Given the description of an element on the screen output the (x, y) to click on. 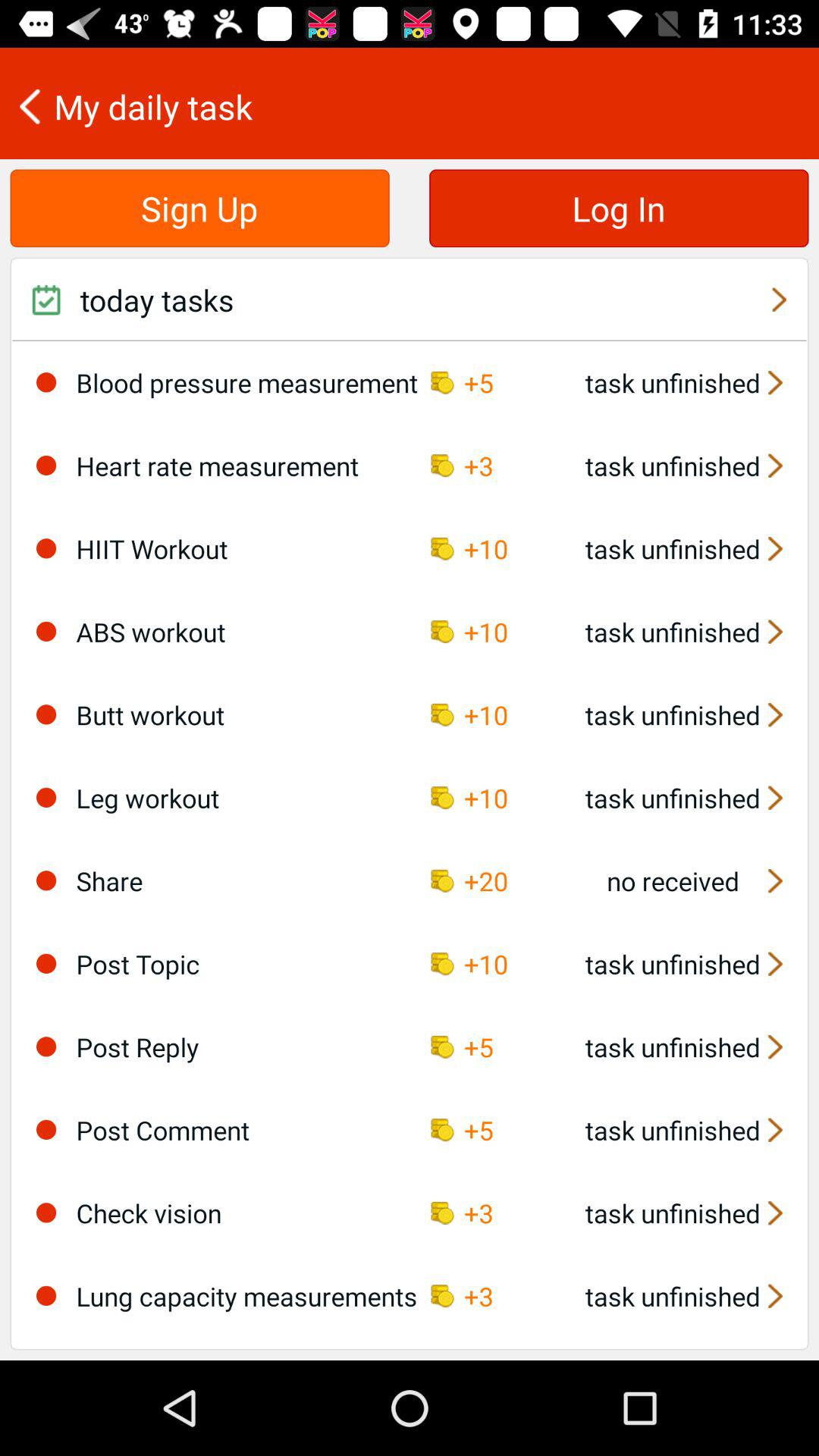
scroll to the sign up item (199, 208)
